Given the description of an element on the screen output the (x, y) to click on. 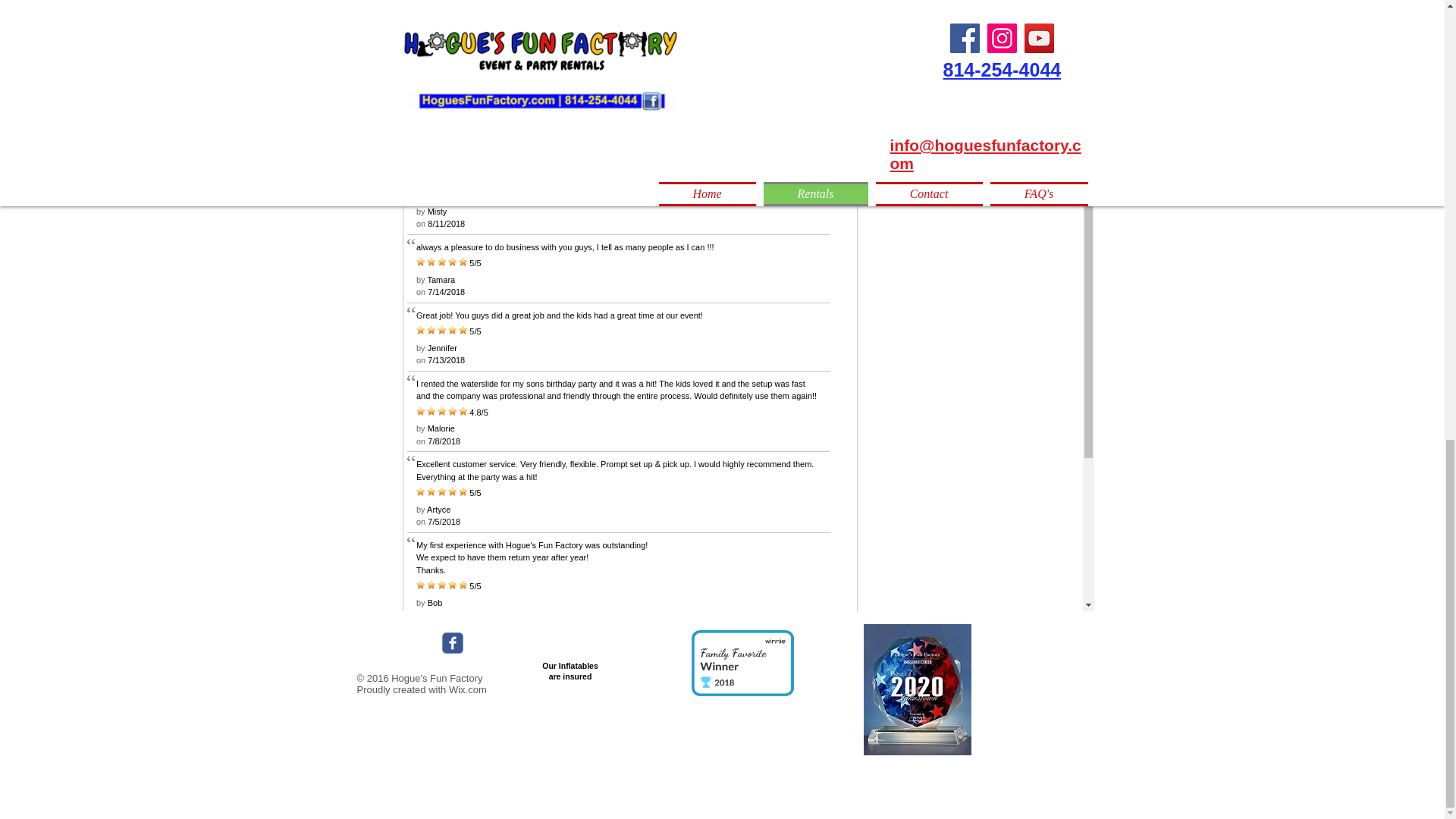
Embedded Content (915, 644)
Embedded Content (755, 671)
Embedded Content (579, 685)
Facebook Like (400, 642)
